Given the description of an element on the screen output the (x, y) to click on. 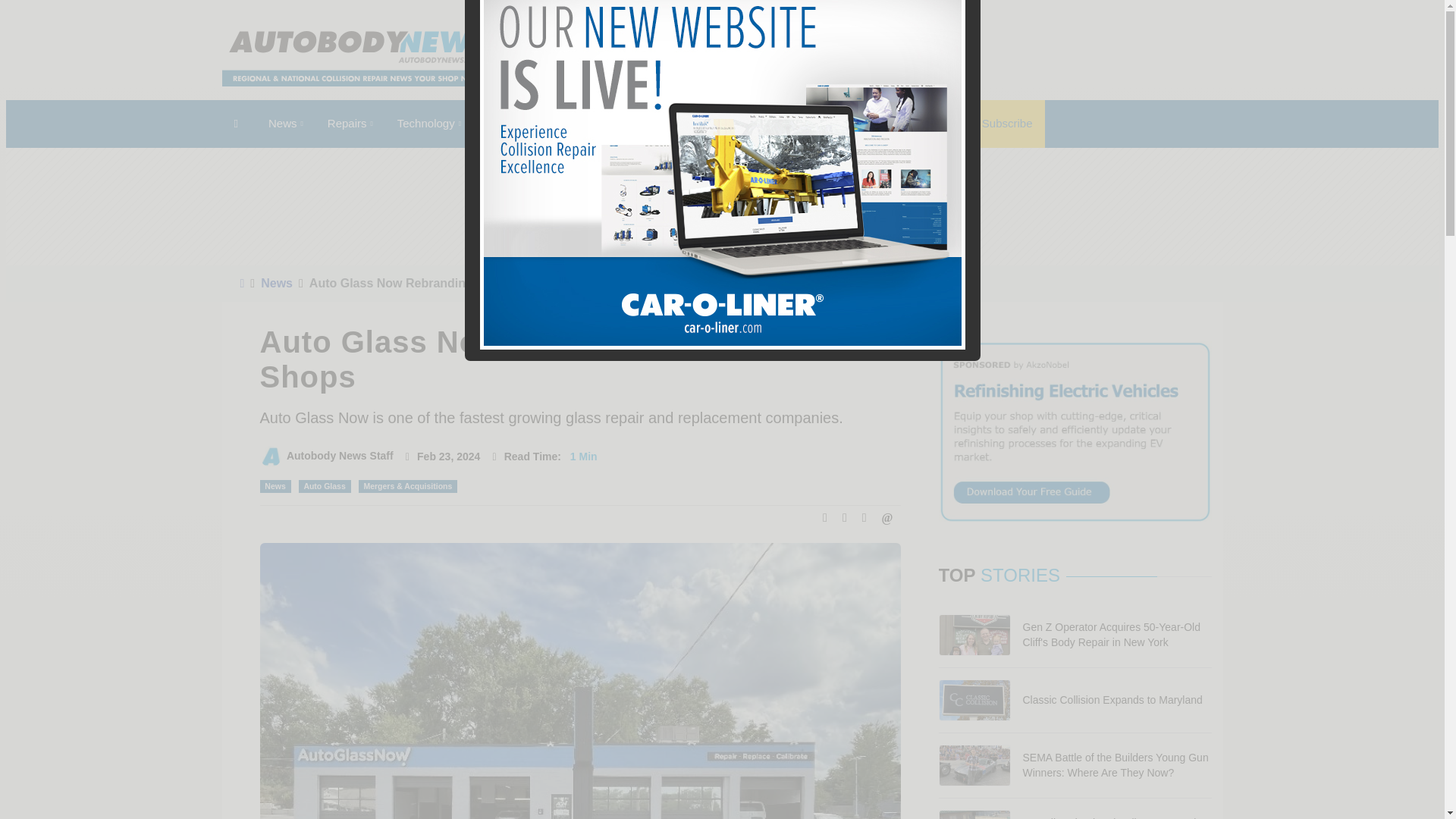
Repairs (350, 123)
3rd party ad content (947, 58)
Autobody News (358, 57)
Trends (505, 123)
3rd party ad content (471, 206)
Features (576, 123)
Technology (429, 123)
News (285, 123)
3rd party ad content (971, 206)
